Given the description of an element on the screen output the (x, y) to click on. 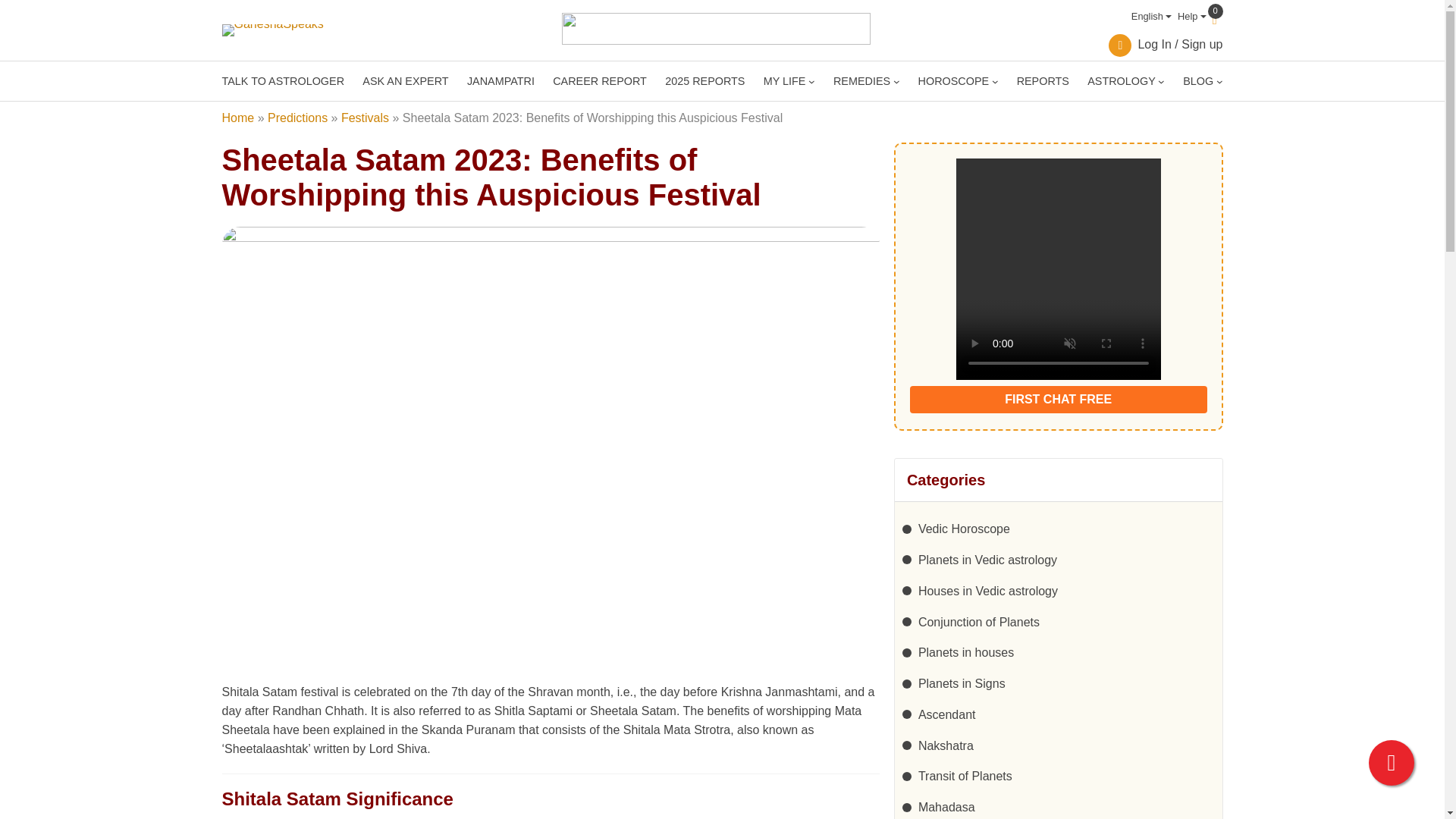
Help (1189, 16)
2025 REPORTS (704, 80)
TALK TO ASTROLOGER (282, 80)
JANAMPATRI (500, 80)
English (1148, 16)
ASK AN EXPERT (405, 80)
MY LIFE (784, 80)
CAREER REPORT (599, 80)
